Given the description of an element on the screen output the (x, y) to click on. 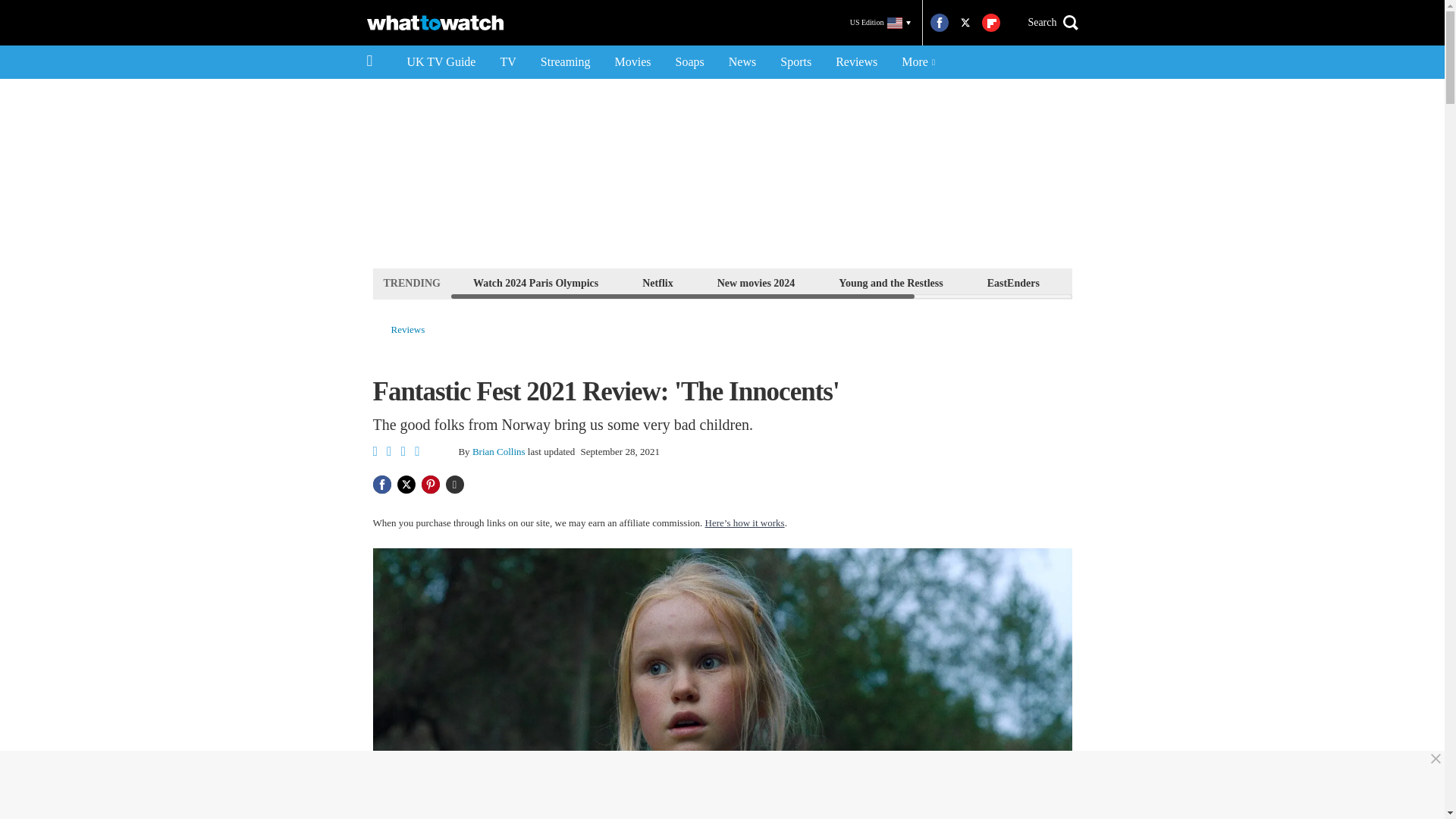
UK TV Guide (440, 61)
TV (507, 61)
Watch 2024 Paris Olympics (535, 282)
Movies (632, 61)
Sports (796, 61)
US Edition (880, 22)
New movies 2024 (755, 282)
Streaming (565, 61)
Brian Collins (498, 451)
Reviews (856, 61)
Emmerdale (1109, 282)
Coronation Street (1220, 282)
